Given the description of an element on the screen output the (x, y) to click on. 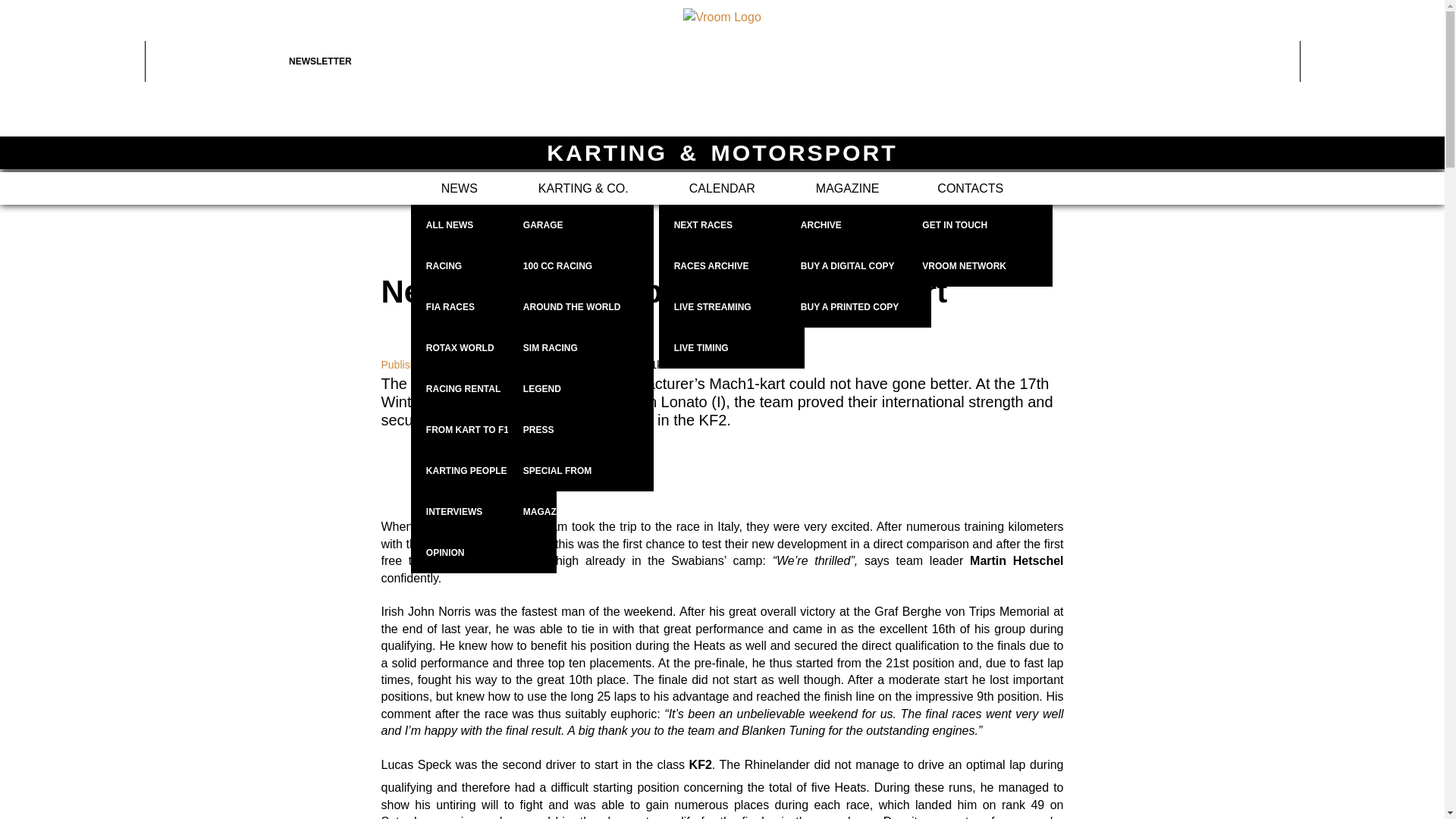
CALENDAR (722, 187)
FIA RACES (483, 306)
BUY A DIGITAL COPY (858, 265)
ARCHIVE (858, 224)
OPINION (483, 552)
NEWSLETTER (360, 60)
SPECIAL FROM MAGAZINE (580, 470)
RACES ARCHIVE (732, 265)
RACING (483, 265)
100 CC RACING (580, 265)
KARTING PEOPLE (483, 470)
MAGAZINE (848, 187)
ALL NEWS (483, 224)
PRESS (580, 429)
